Given the description of an element on the screen output the (x, y) to click on. 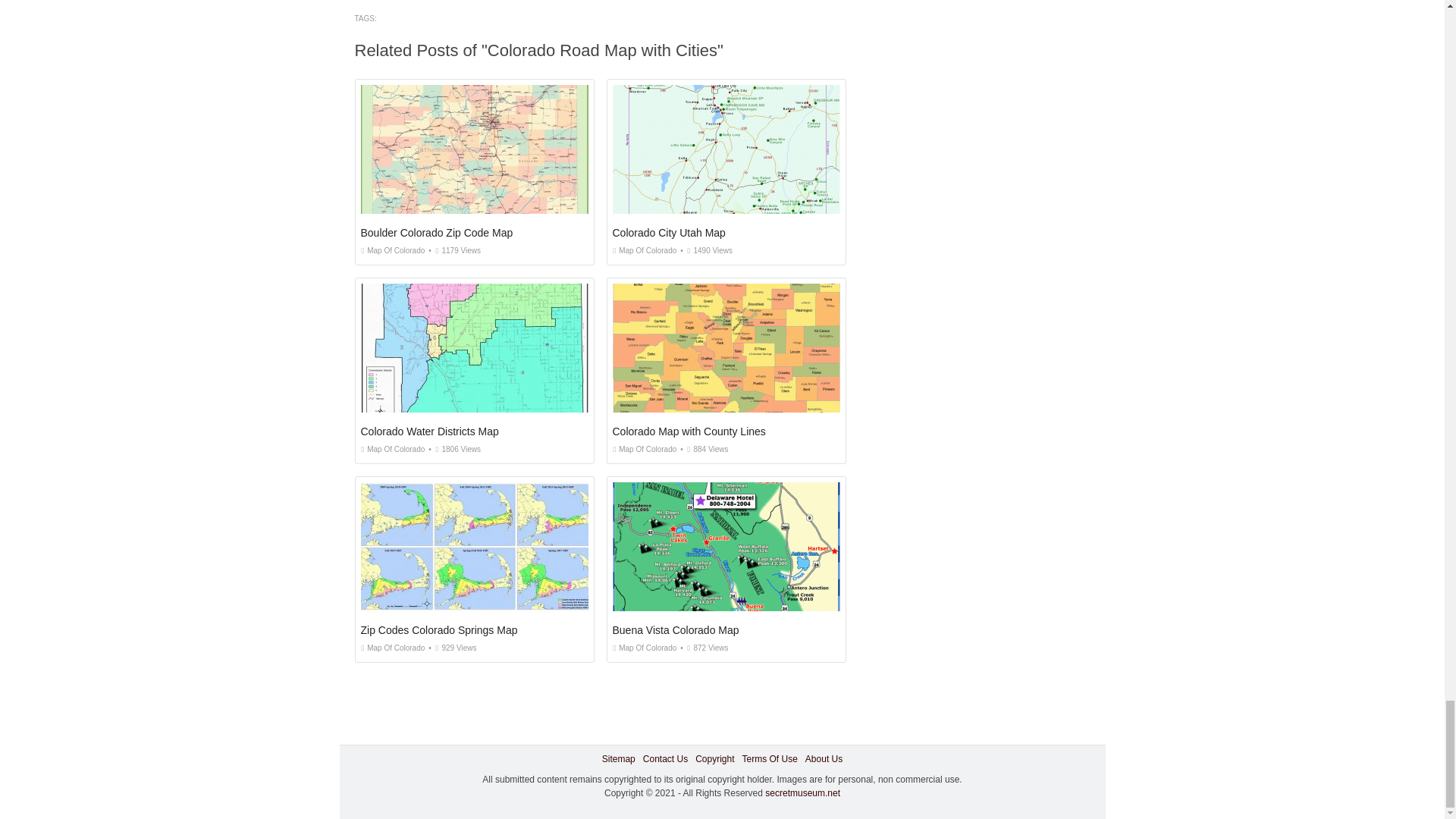
Colorado Water Districts Map (430, 431)
Map Of Colorado (393, 647)
Colorado City Utah Map (668, 232)
Map Of Colorado (393, 250)
Zip Codes Colorado Springs Map (439, 630)
Map Of Colorado (644, 449)
Boulder Colorado Zip Code Map (437, 232)
Map Of Colorado (644, 647)
Buena Vista Colorado Map (675, 630)
Map Of Colorado (644, 250)
